Given the description of an element on the screen output the (x, y) to click on. 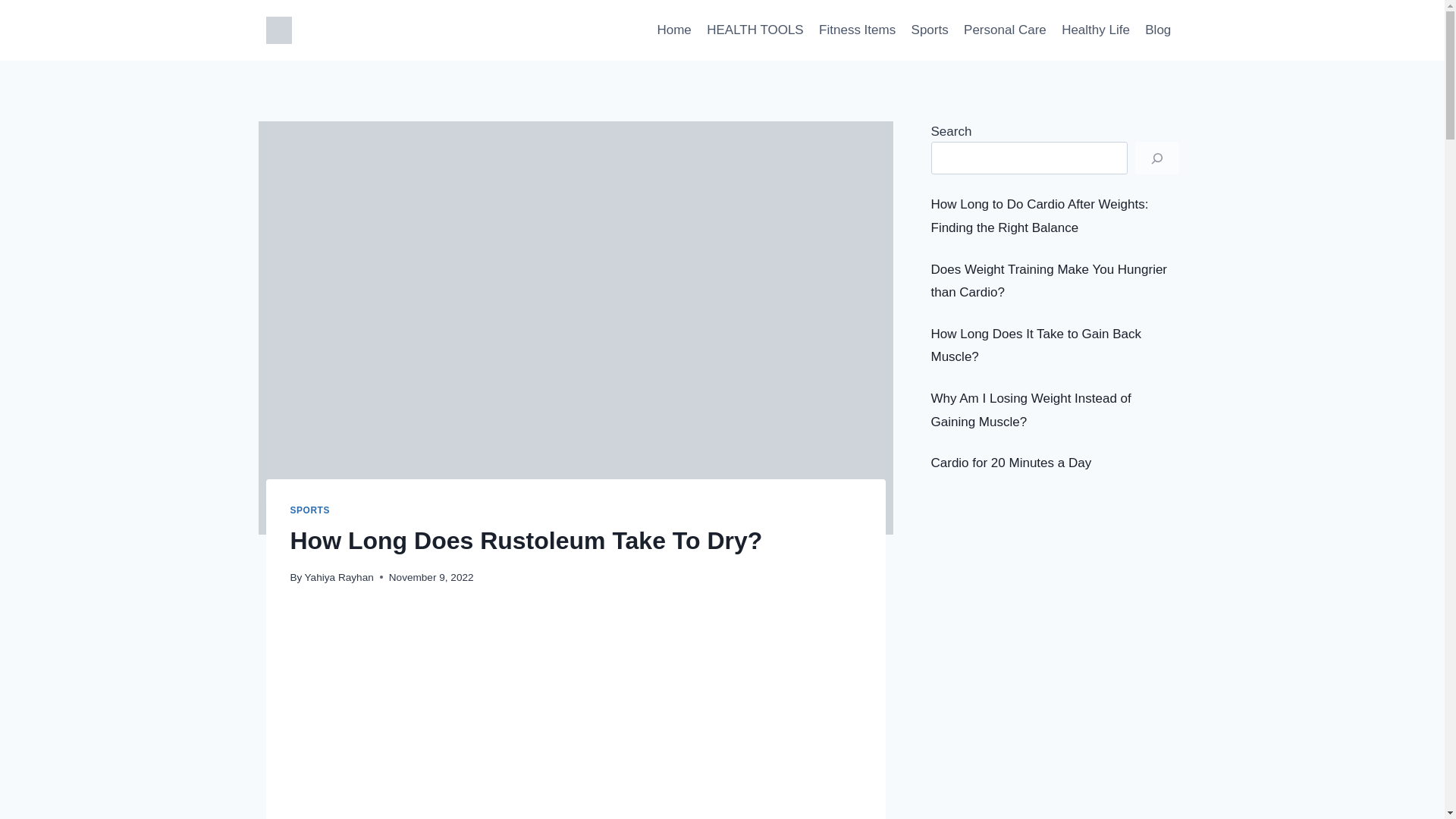
Yahiya Rayhan (339, 577)
Advertisement (1055, 588)
Blog (1157, 30)
HEALTH TOOLS (754, 30)
Home (673, 30)
Fitness Items (856, 30)
Healthy Life (1095, 30)
Advertisement (575, 714)
Personal Care (1005, 30)
Sports (929, 30)
